Given the description of an element on the screen output the (x, y) to click on. 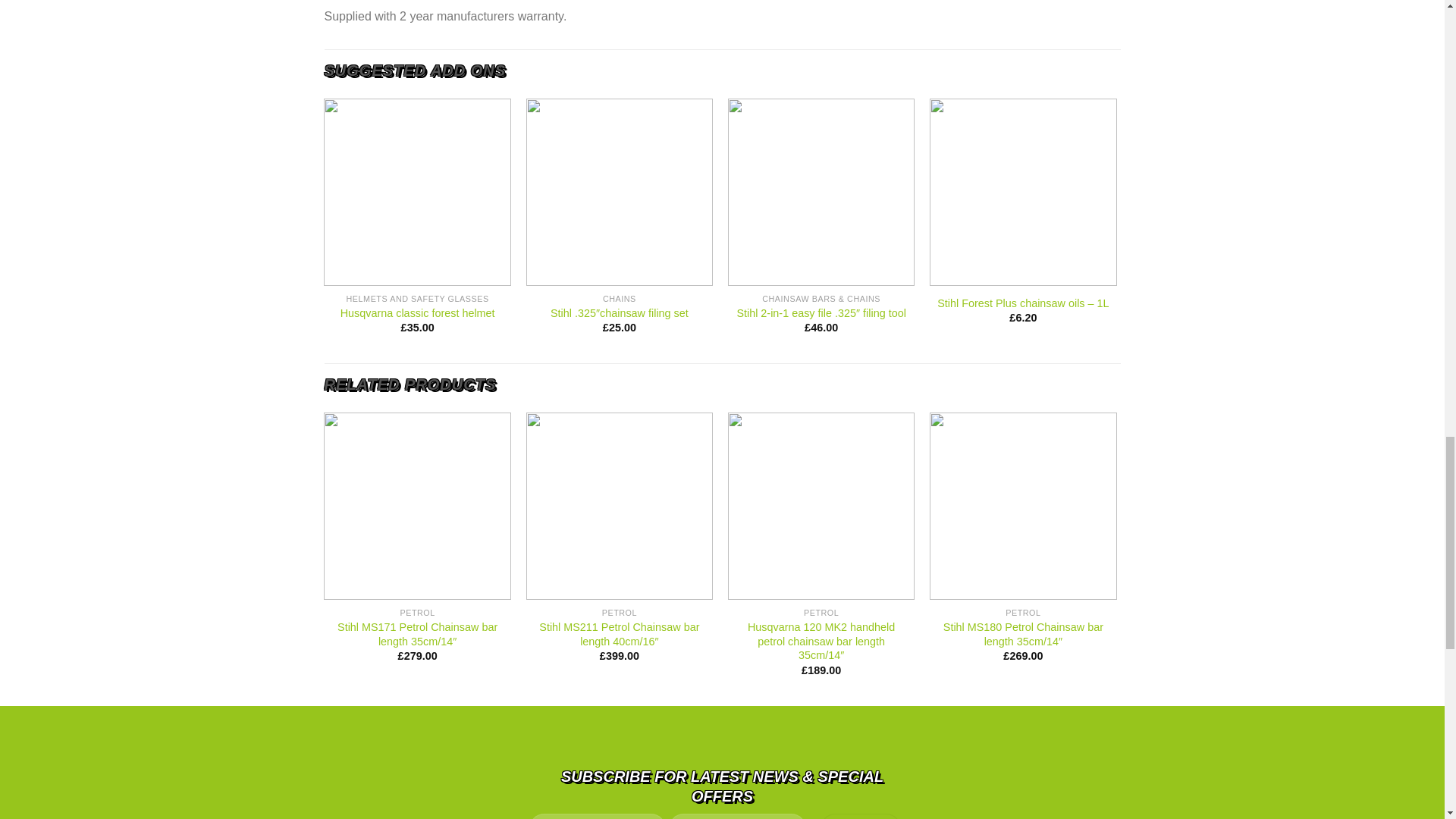
Sign up (861, 816)
